Given the description of an element on the screen output the (x, y) to click on. 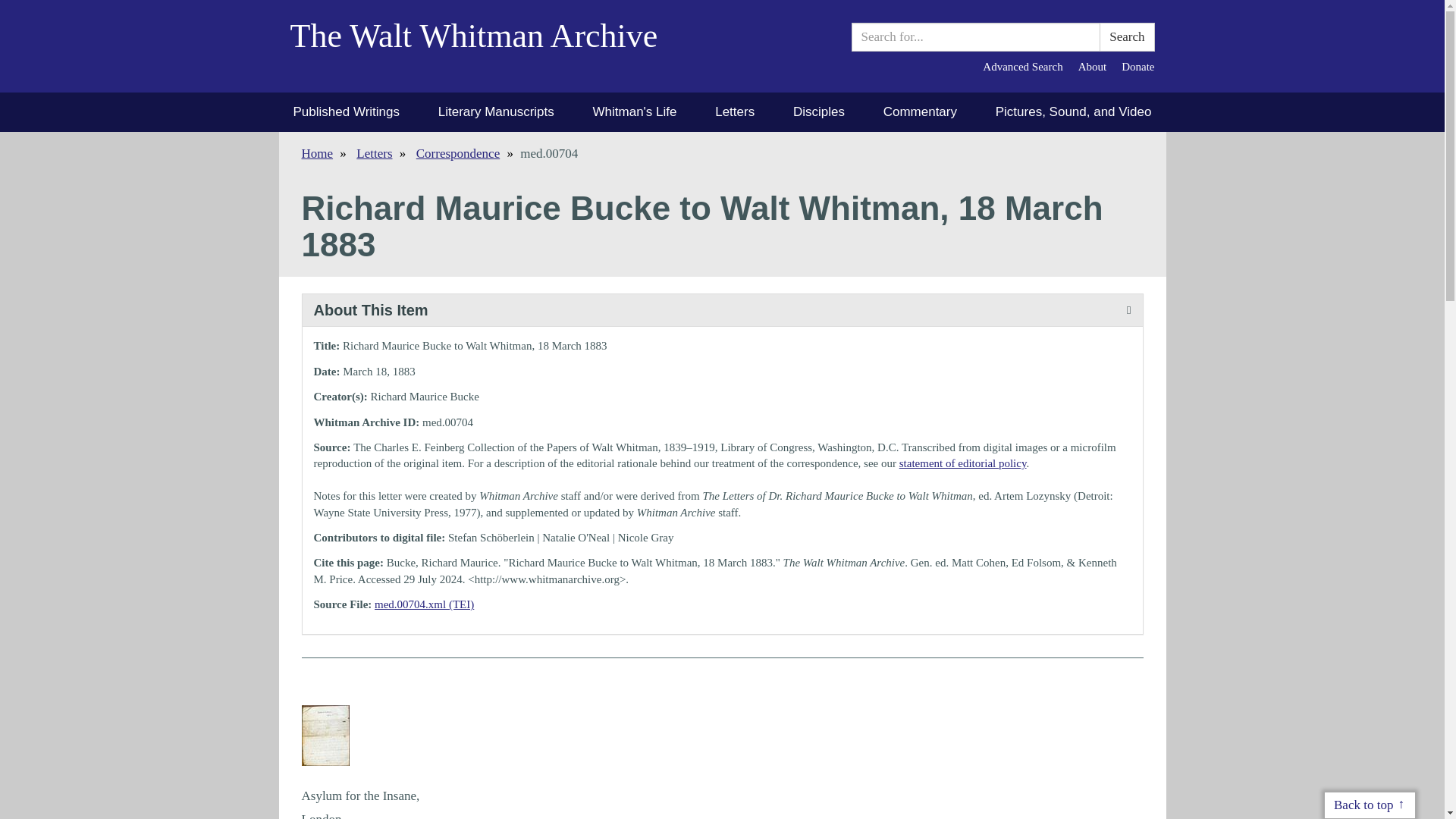
Correspondence (457, 153)
Letters (734, 112)
Disciples (818, 112)
About This Item (721, 310)
statement of editorial policy (962, 463)
Search (1126, 36)
Published Writings (345, 112)
Search (1126, 36)
Donate (1137, 66)
Pictures, Sound, and Video (1073, 112)
Advanced Search (1022, 66)
About (1092, 66)
The Walt Whitman Archive (484, 46)
Letters (373, 153)
Whitman's Life (634, 112)
